Given the description of an element on the screen output the (x, y) to click on. 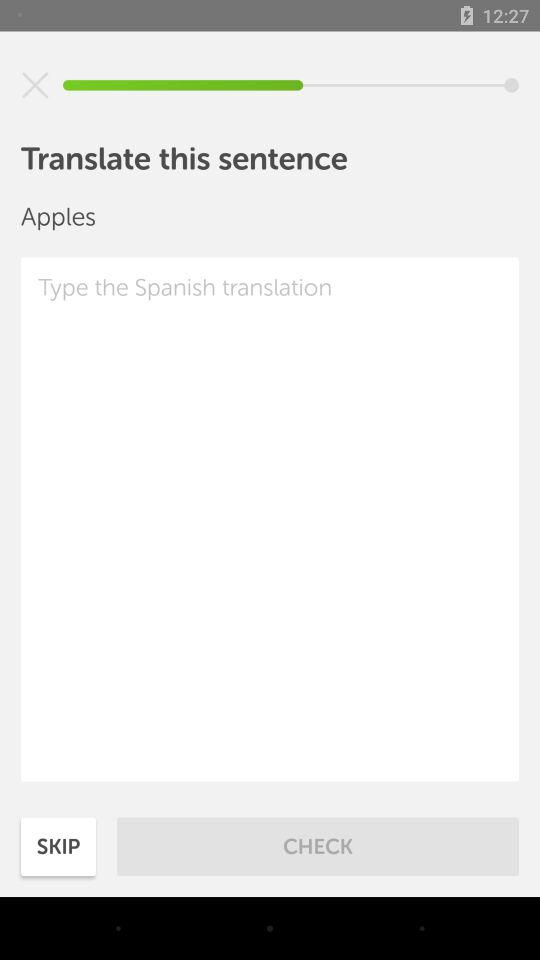
type (270, 519)
